Given the description of an element on the screen output the (x, y) to click on. 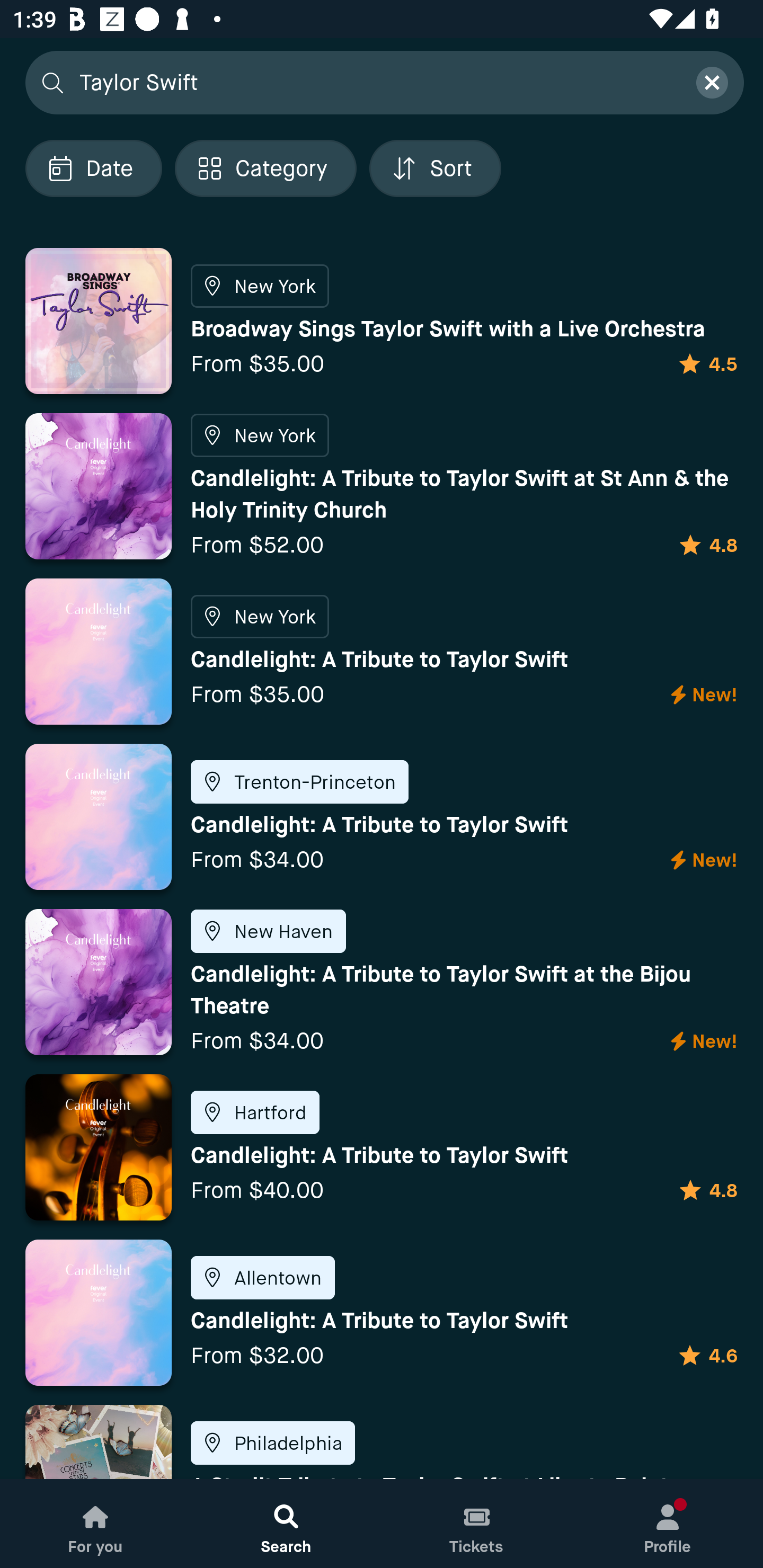
Taylor Swift (376, 81)
Localized description Date (93, 168)
Localized description Category (265, 168)
Localized description Sort (435, 168)
For you (95, 1523)
Tickets (476, 1523)
Profile, New notification Profile (667, 1523)
